Given the description of an element on the screen output the (x, y) to click on. 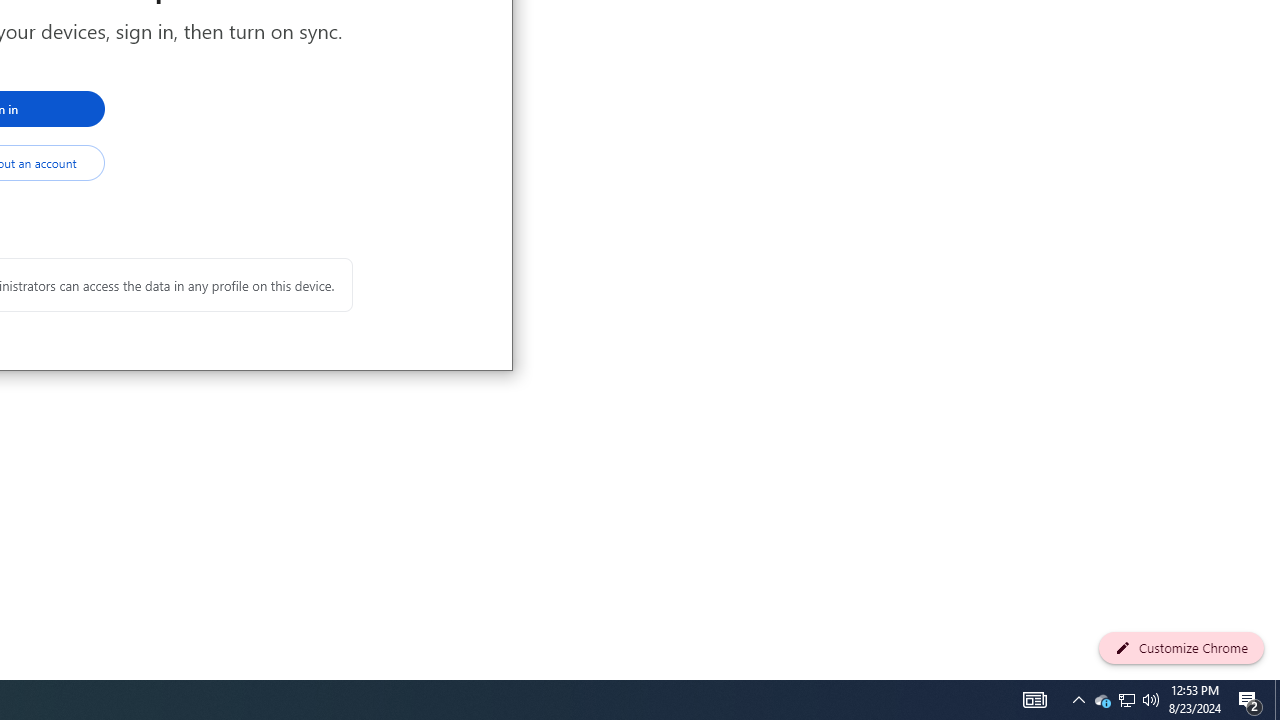
User Promoted Notification Area (1102, 699)
Notification Chevron (1126, 699)
AutomationID: 4105 (1126, 699)
Show desktop (1078, 699)
Action Center, 2 new notifications (1034, 699)
Q2790: 100% (1277, 699)
